Given the description of an element on the screen output the (x, y) to click on. 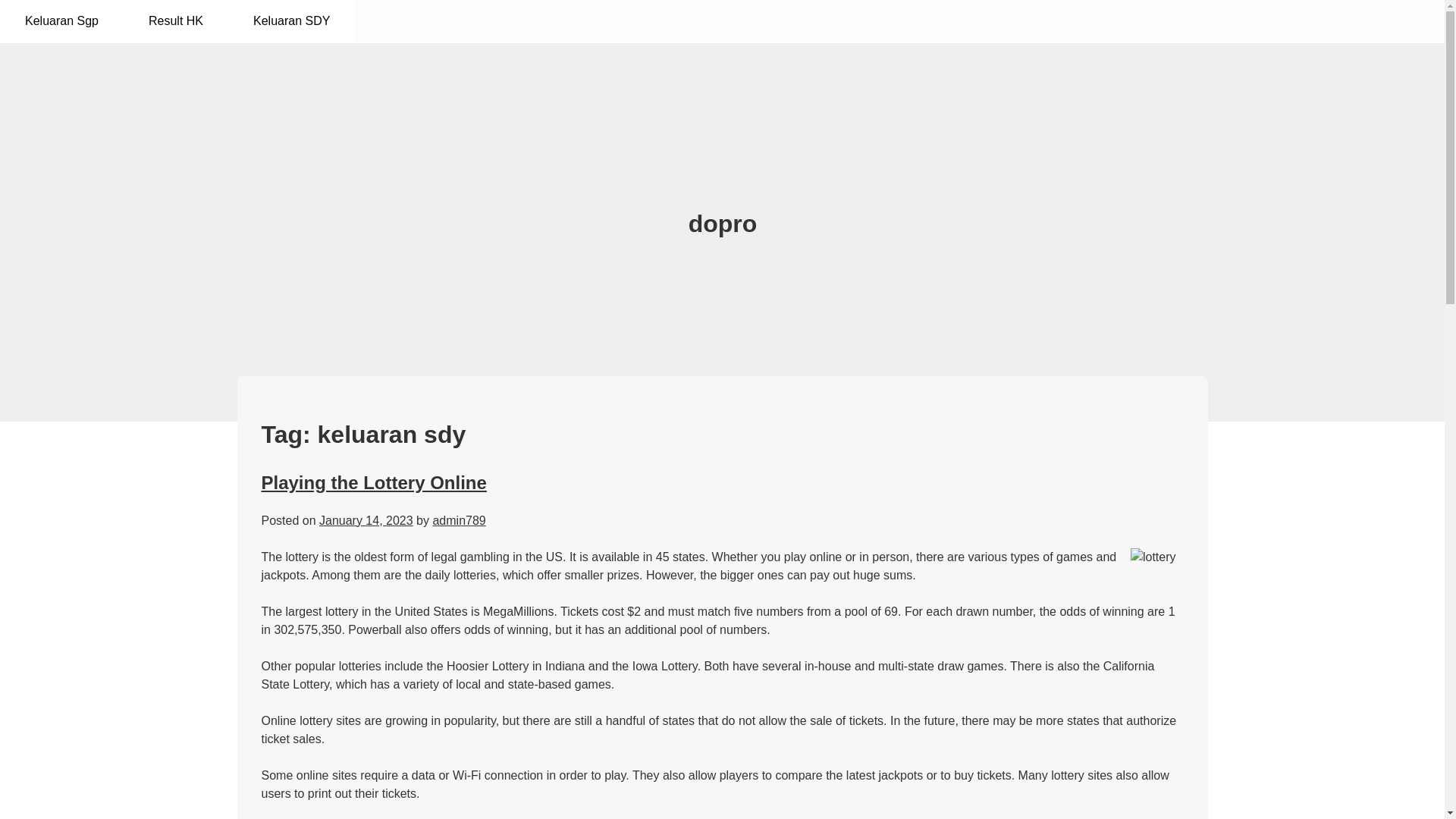
admin789 (458, 520)
Keluaran Sgp (61, 21)
January 14, 2023 (365, 520)
Playing the Lottery Online (373, 482)
Result HK (175, 21)
Keluaran SDY (290, 21)
